Given the description of an element on the screen output the (x, y) to click on. 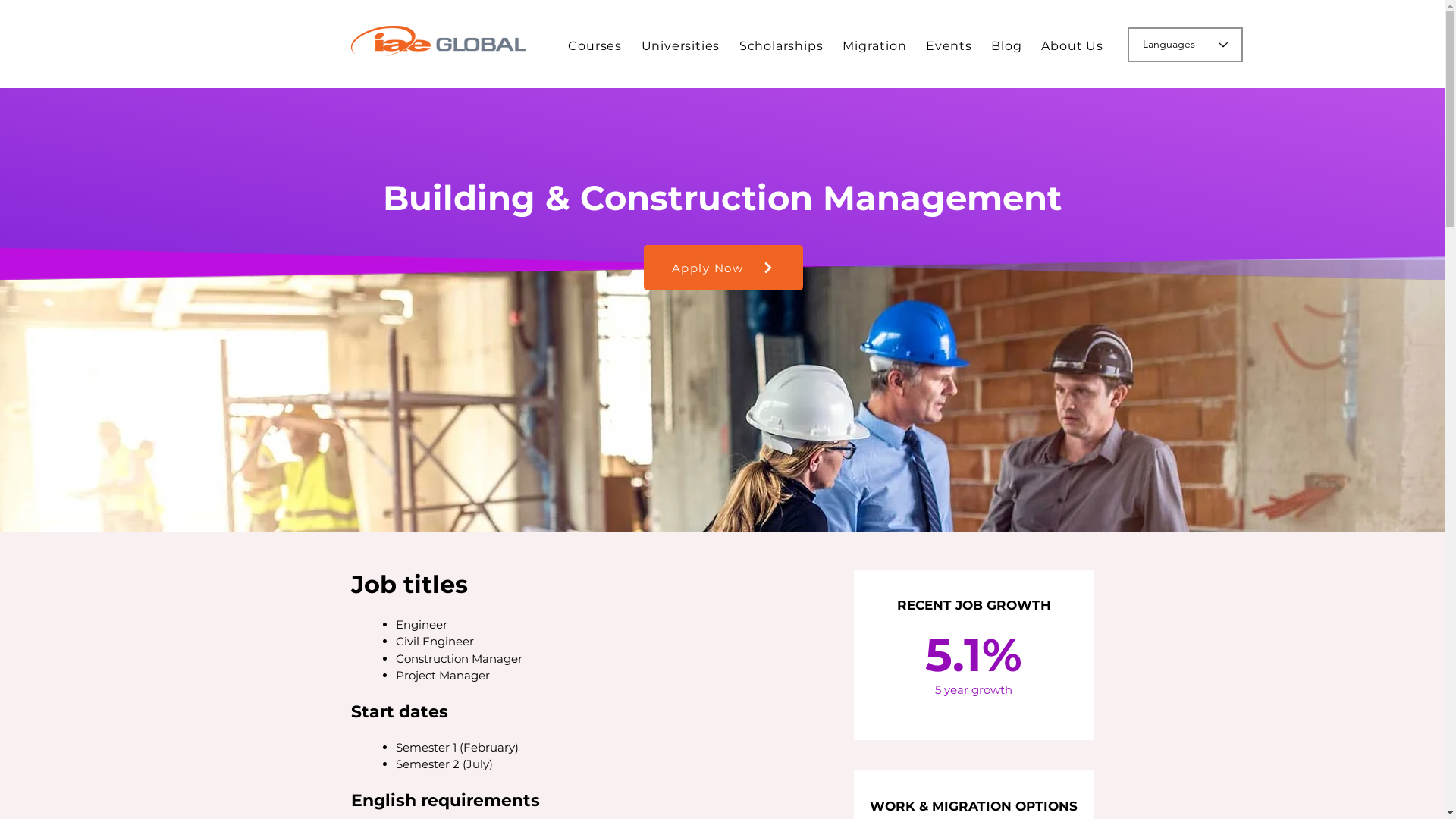
Migration Element type: text (874, 45)
Universities Element type: text (680, 45)
About Us Element type: text (1071, 45)
Events Element type: text (948, 45)
Apply Now Element type: text (722, 267)
Blog Element type: text (1007, 45)
Courses Element type: text (594, 45)
Scholarships Element type: text (780, 45)
